Given the description of an element on the screen output the (x, y) to click on. 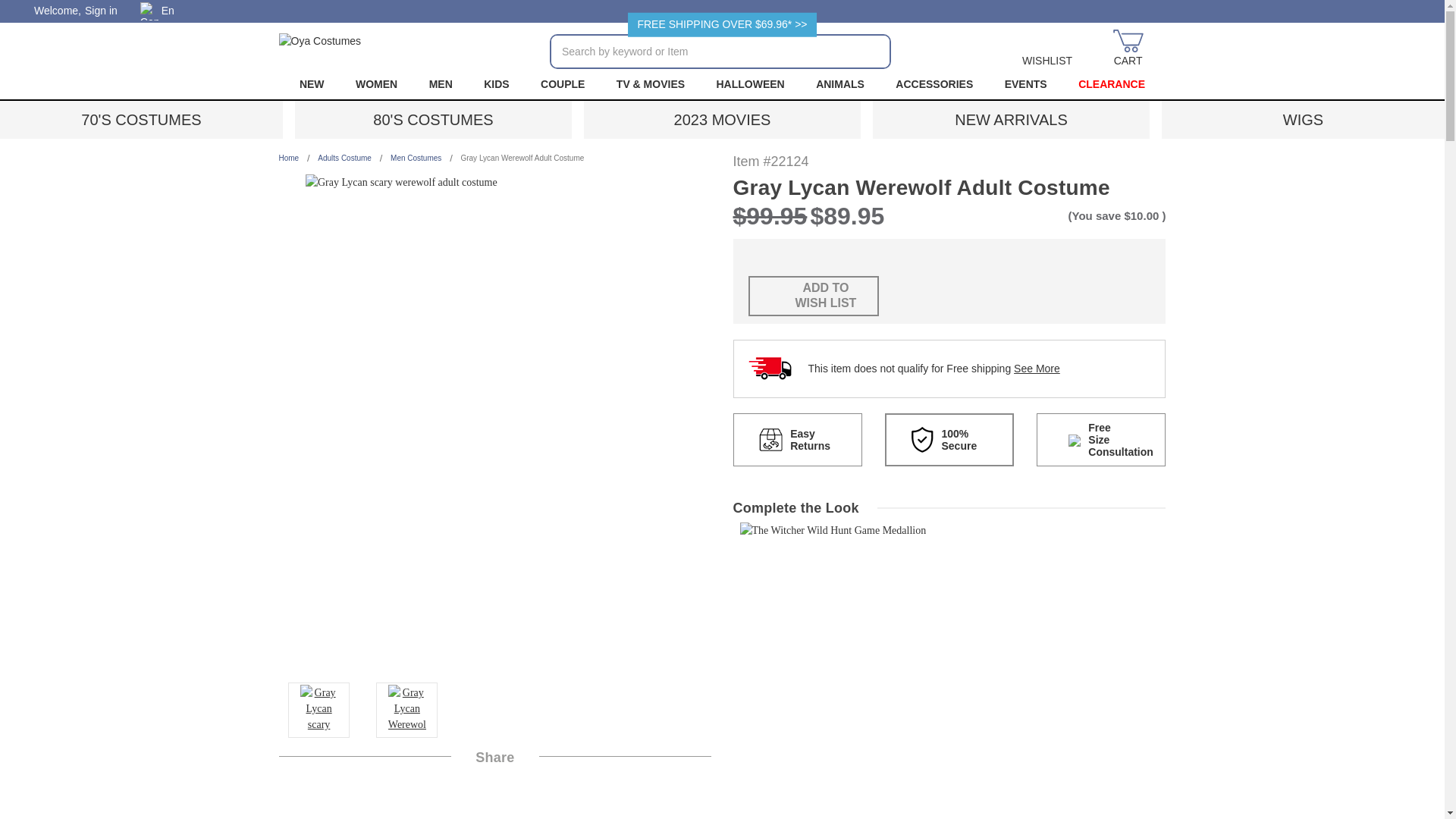
Sign in (100, 10)
Wishlist (1047, 48)
WISHLIST (1047, 48)
CART (1128, 48)
WOMEN (376, 83)
En (162, 11)
NEW (311, 83)
Oya Costumes (320, 48)
